Given the description of an element on the screen output the (x, y) to click on. 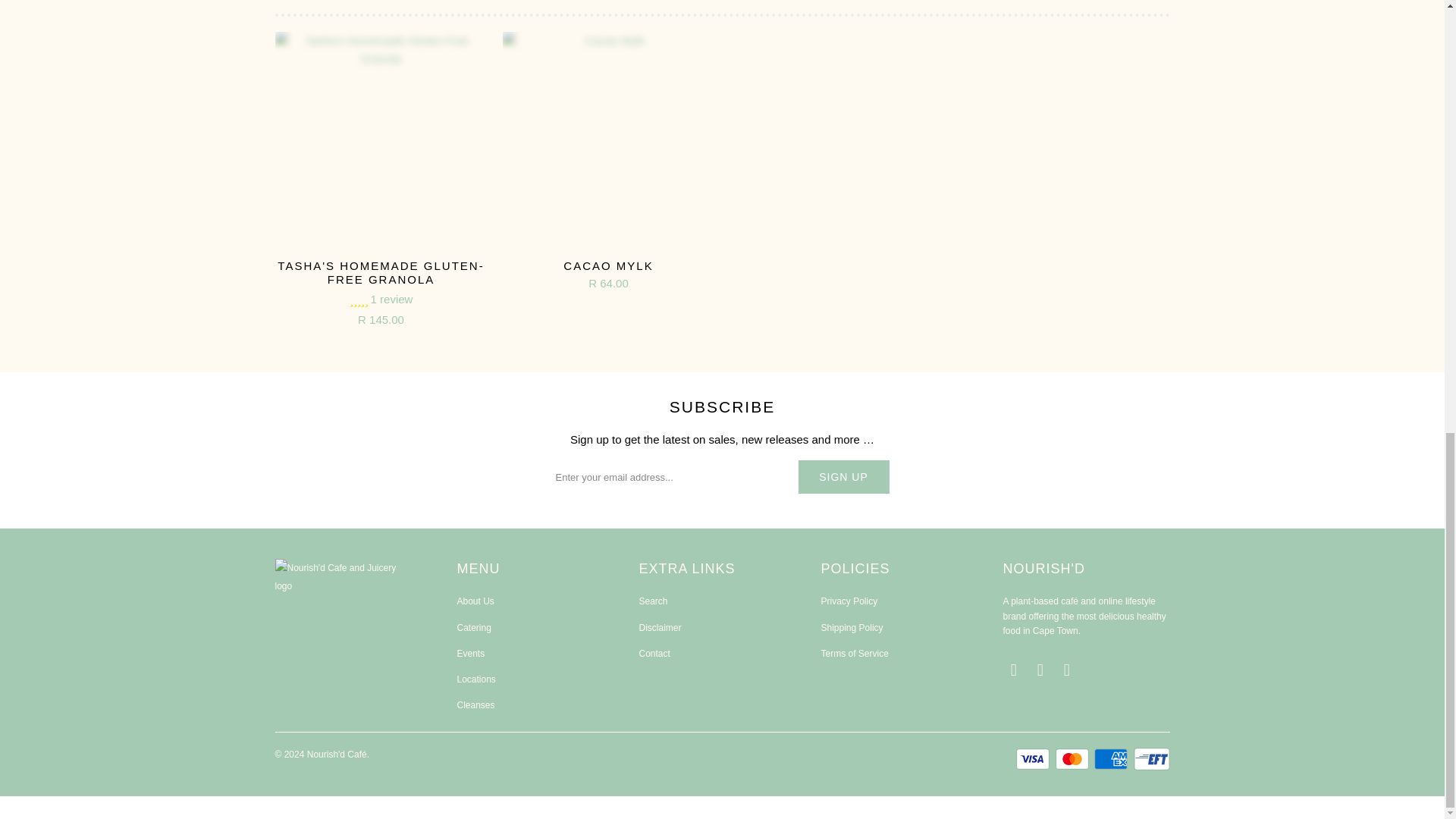
Sign Up (842, 476)
PayFast Instant EFT (1150, 758)
Mastercard (1073, 758)
Visa (1034, 758)
American Express (1112, 758)
